Given the description of an element on the screen output the (x, y) to click on. 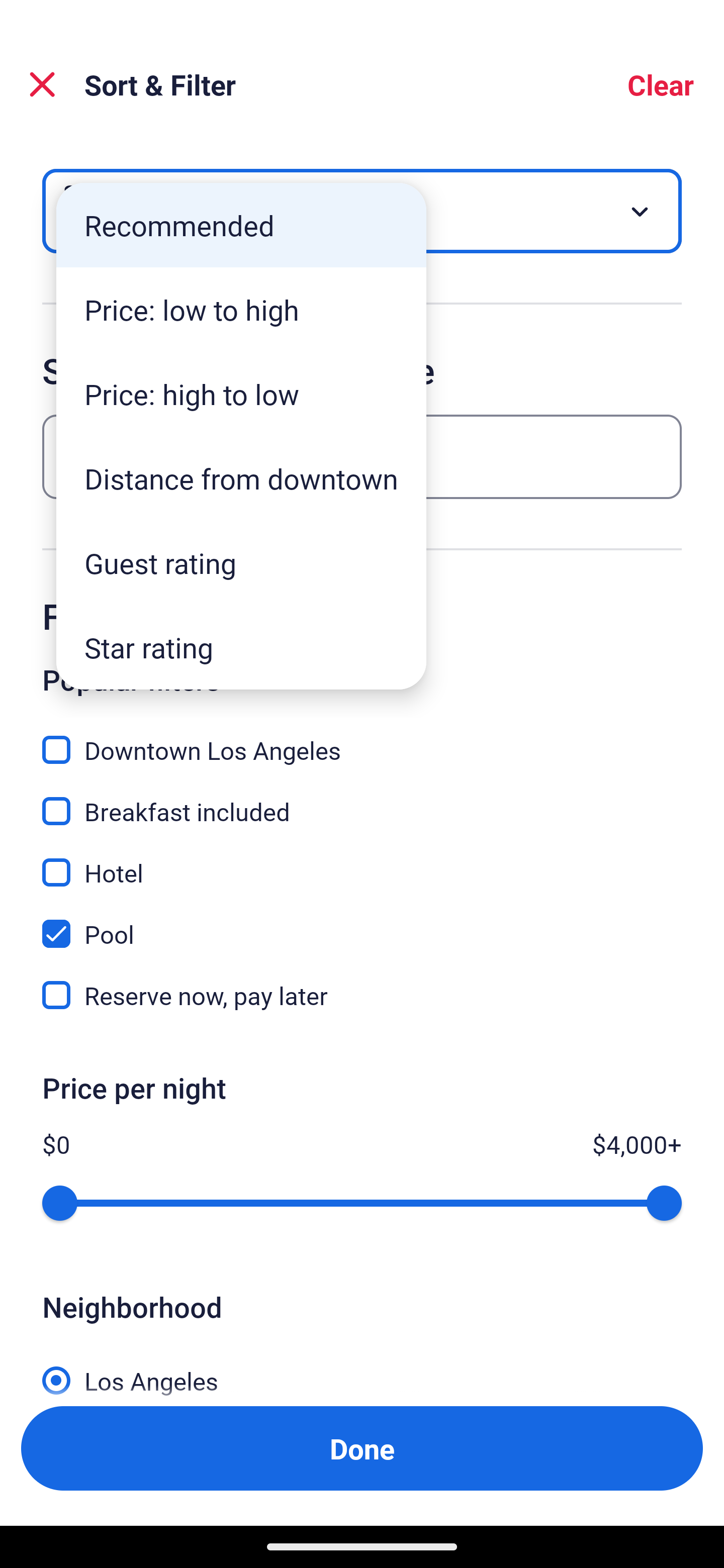
Price: low to high (241, 309)
Price: high to low (241, 393)
Distance from downtown (241, 477)
Guest rating (241, 562)
Star rating (241, 647)
